Given the description of an element on the screen output the (x, y) to click on. 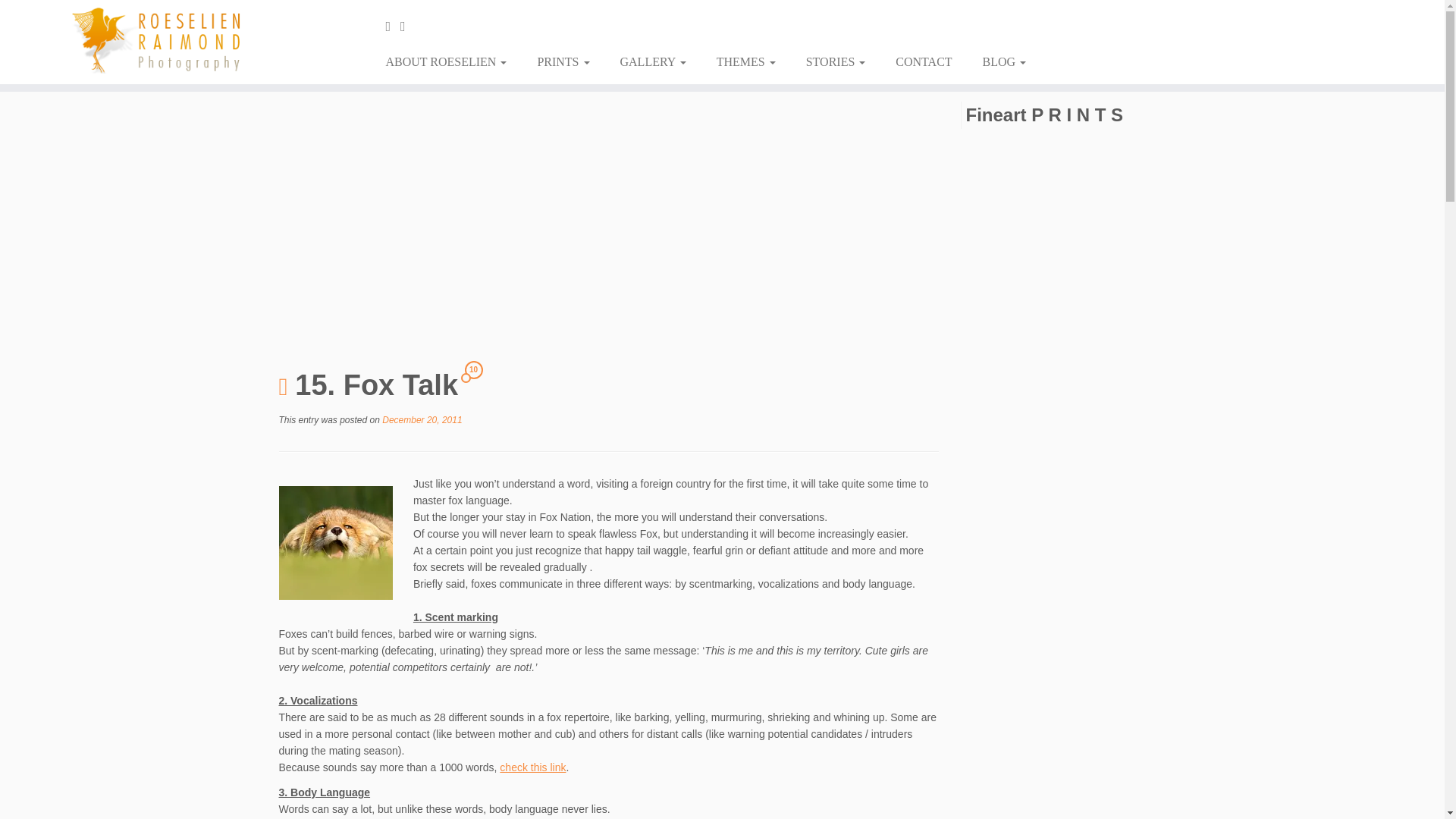
ABOUT ROESELIEN (451, 62)
Gallery Roeselien Raimond Fine Art Photos (653, 62)
Follow me on Facebook (392, 26)
GALLERY (653, 62)
PRINTS (562, 62)
Follow me on Instagram (407, 26)
ART SHOP (562, 62)
